Given the description of an element on the screen output the (x, y) to click on. 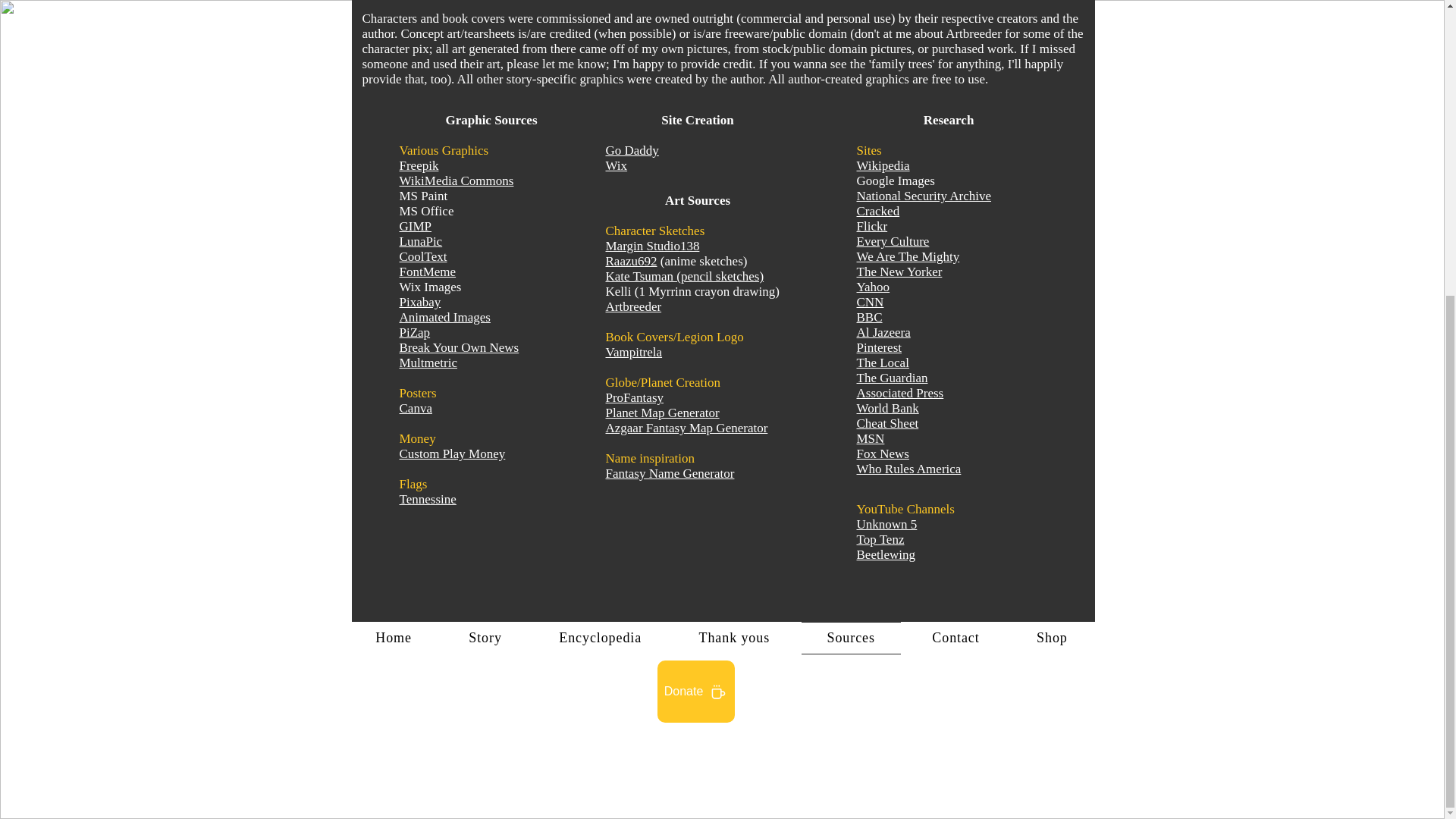
Tennessine (426, 499)
Multmetric (427, 362)
Canva (414, 408)
Wix (616, 165)
PiZap (413, 332)
Artbreeder (633, 306)
GIMP (414, 226)
Custom Play Money (451, 453)
ProFantasy (634, 397)
Planet Map Generator (662, 412)
